Given the description of an element on the screen output the (x, y) to click on. 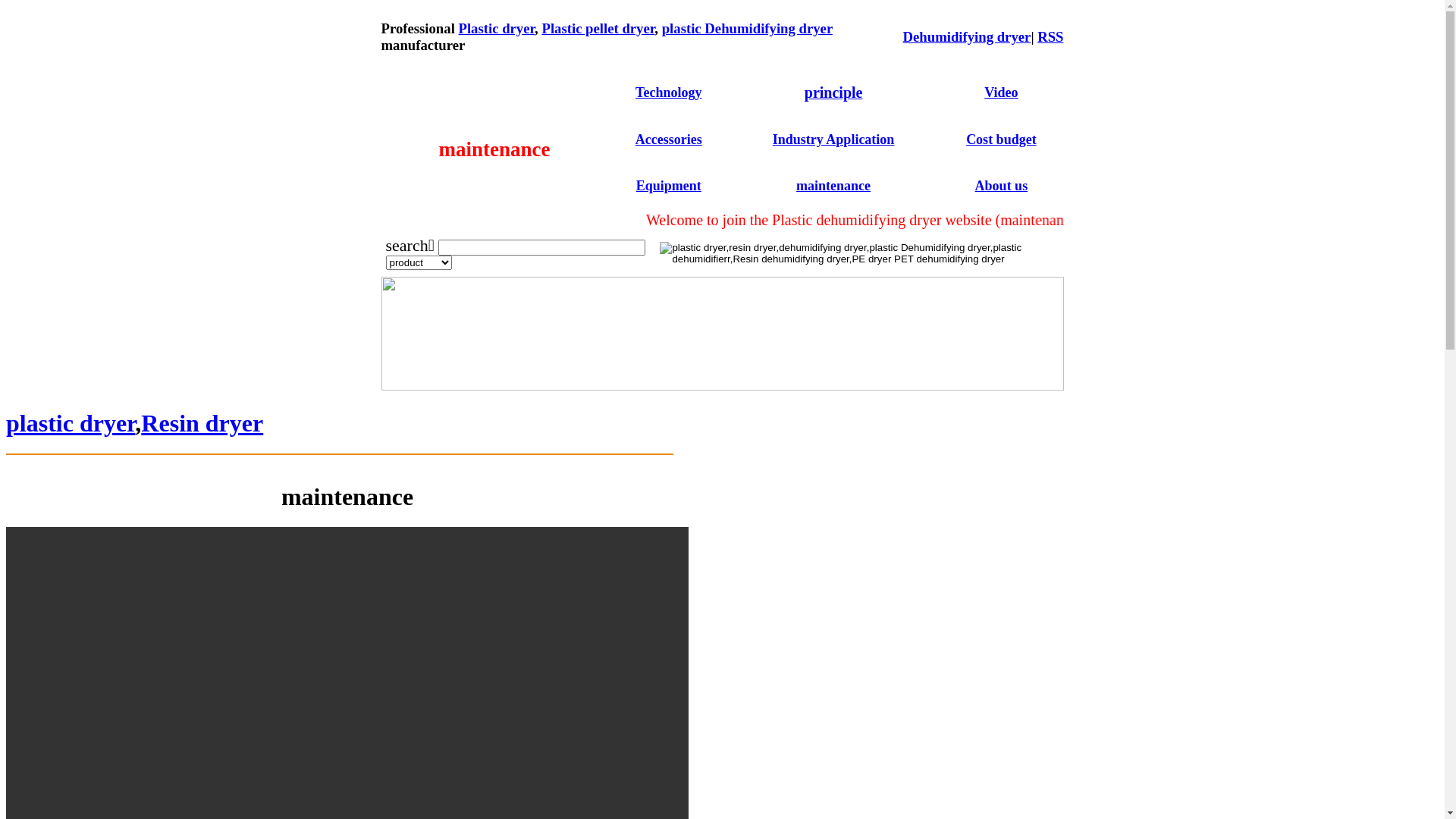
Technology Element type: text (668, 92)
Plastic pellet dryer Element type: text (597, 28)
Equipment Element type: text (668, 185)
Video Element type: text (1000, 92)
RSS Element type: text (1050, 36)
plastic dryer Element type: text (70, 422)
plastic Dehumidifying dryer Element type: text (747, 28)
maintenance Element type: text (833, 185)
Dehumidifying dryer Element type: text (967, 36)
Accessories Element type: text (668, 139)
principle Element type: text (833, 92)
Plastic dryer Element type: text (496, 28)
Cost budget Element type: text (1001, 139)
Industry Application Element type: text (833, 139)
About us Element type: text (1001, 185)
Resin dryer Element type: text (202, 422)
